Given the description of an element on the screen output the (x, y) to click on. 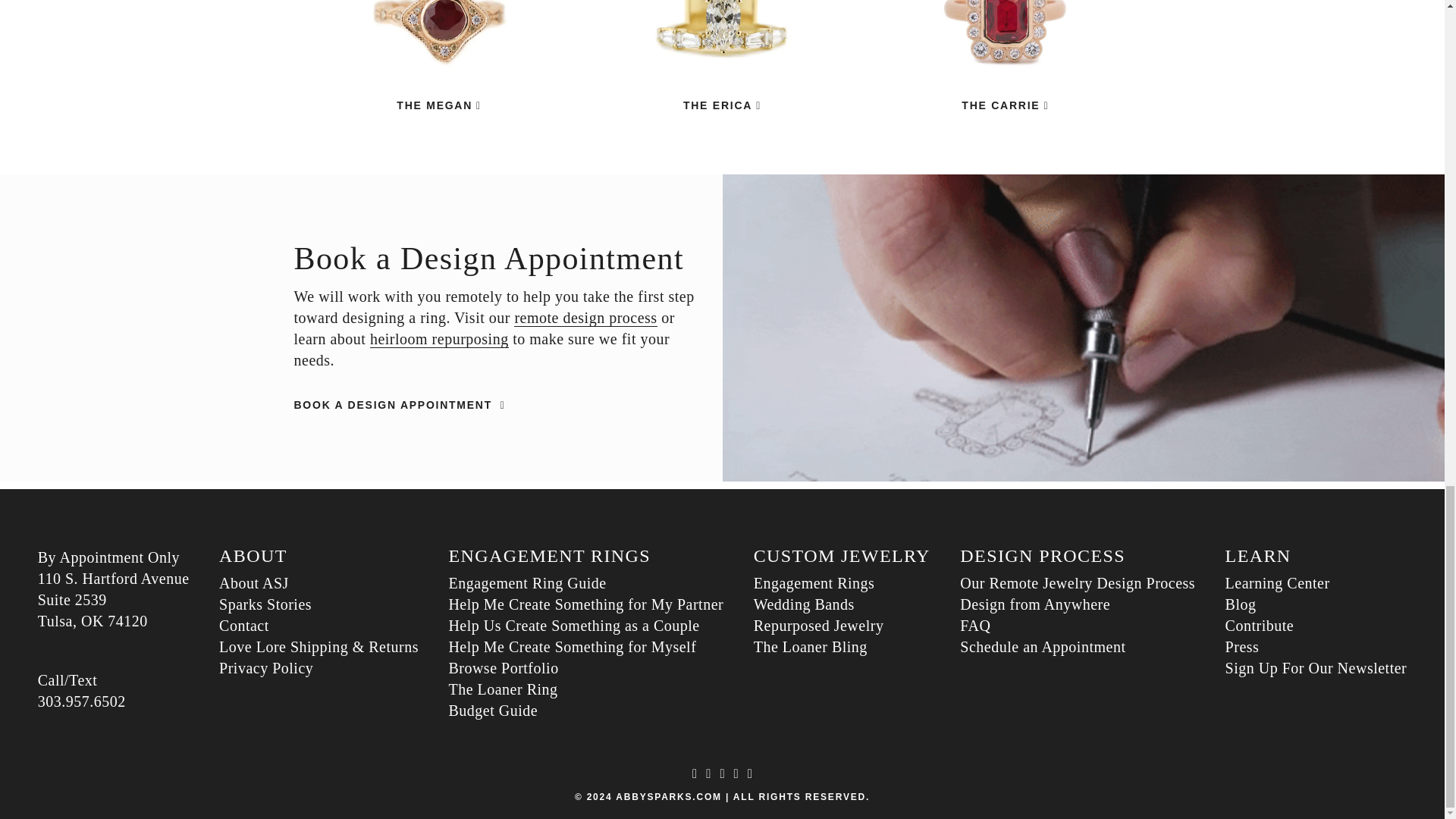
Rose Gold, Ruby, And Champagne Diamond Engagement Ring (438, 105)
Ruby Rose Gold Halo Ring (1004, 54)
Double Band Marquise Diamond Ring (721, 105)
Ruby Rose Gold Halo Ring (1004, 105)
Rose Gold, Ruby, And Champagne Diamond Engagement Ring (438, 54)
Double Band Marquise Diamond Ring (722, 54)
